Given the description of an element on the screen output the (x, y) to click on. 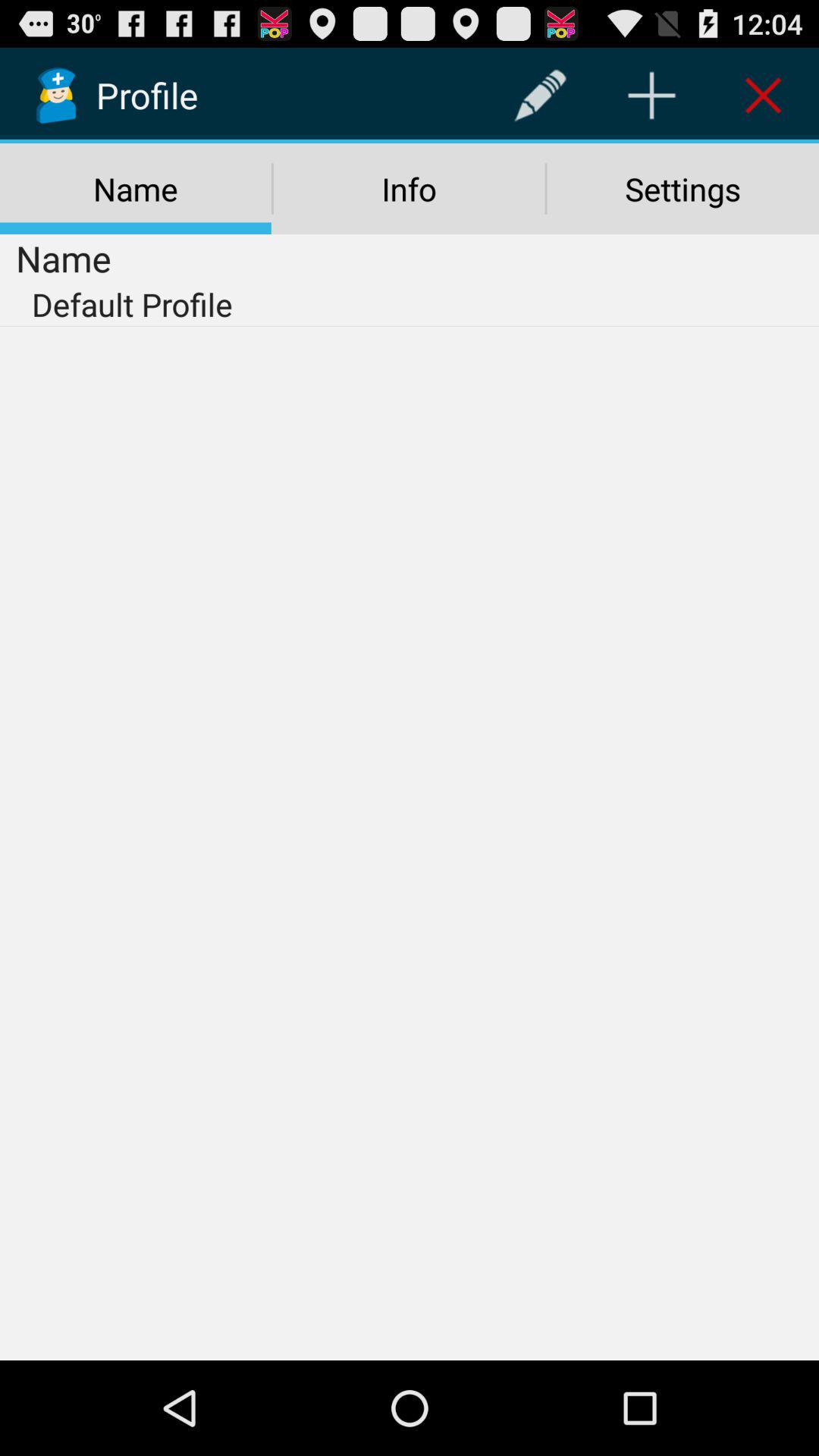
press settings icon (683, 188)
